Given the description of an element on the screen output the (x, y) to click on. 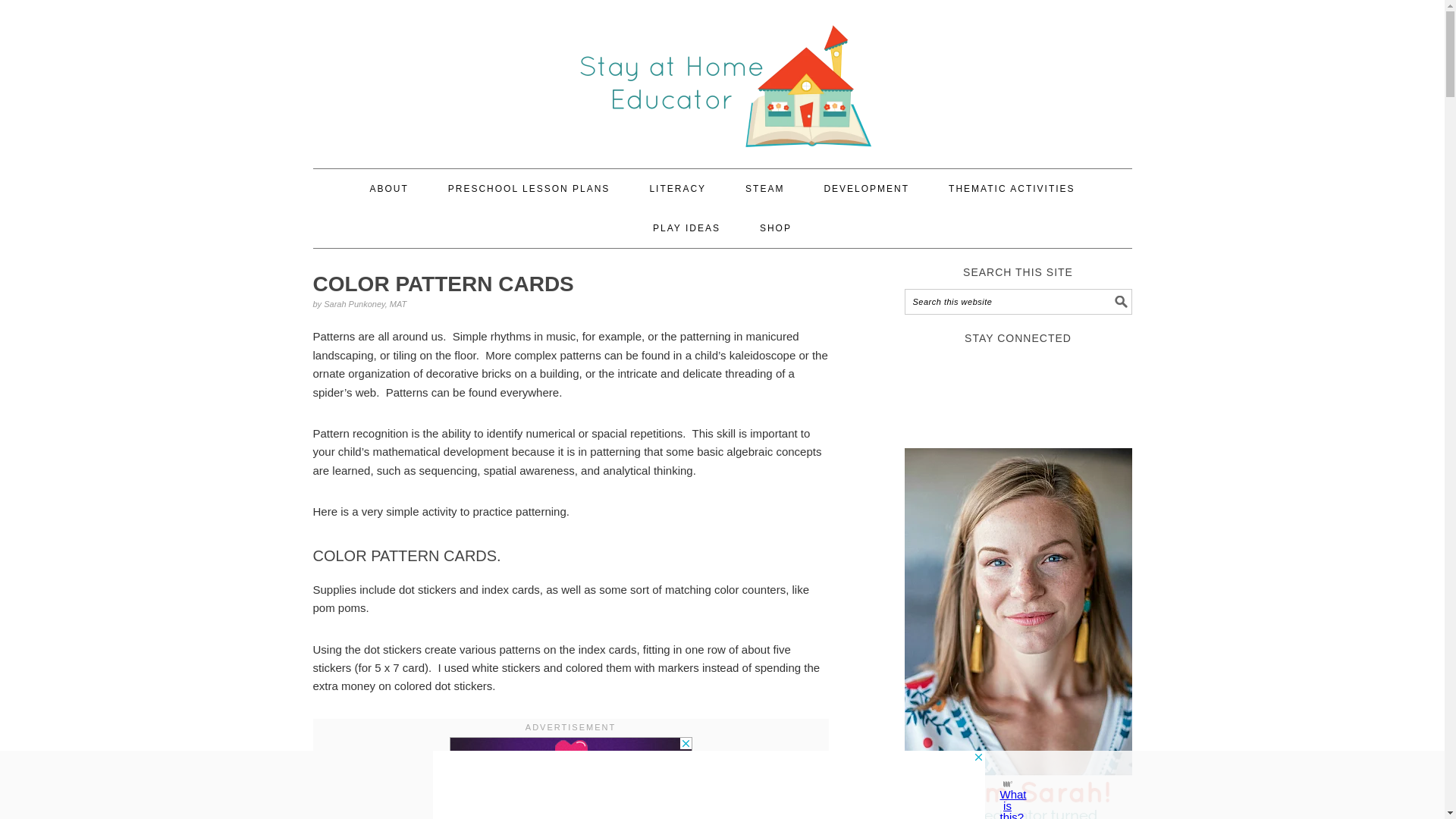
STEAM (764, 188)
3rd party ad content (569, 755)
PLAY IDEAS (686, 228)
3rd party ad content (708, 785)
LITERACY (677, 188)
ABOUT (388, 188)
STAY AT HOME EDUCATOR (722, 77)
Sarah Punkoney, MAT (364, 303)
SHOP (775, 228)
DEVELOPMENT (866, 188)
THEMATIC ACTIVITIES (1011, 188)
PRESCHOOL LESSON PLANS (528, 188)
